Given the description of an element on the screen output the (x, y) to click on. 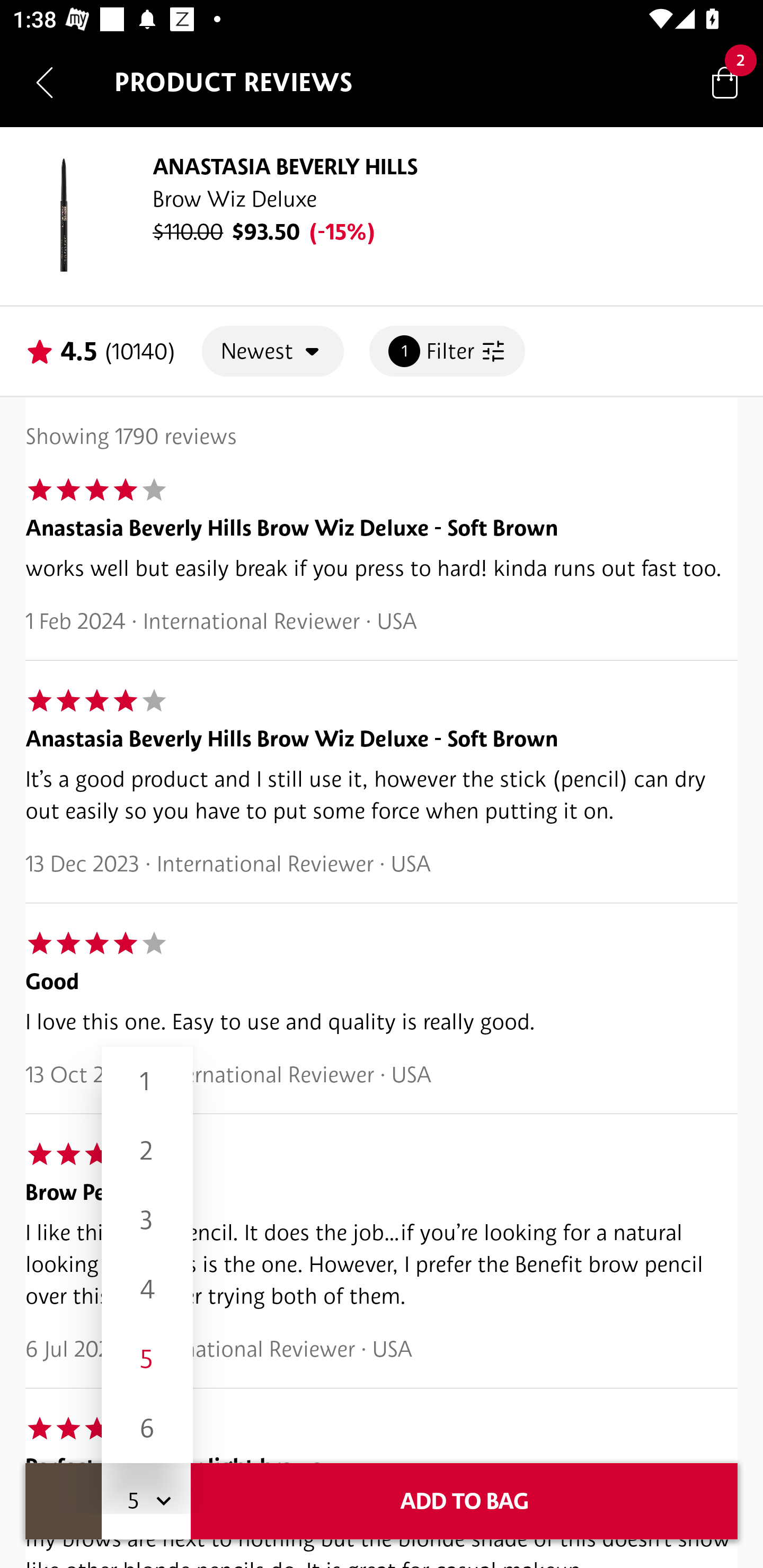
1 (147, 1081)
2 (147, 1150)
3 (147, 1219)
4 (147, 1289)
5 (147, 1358)
6 (147, 1427)
